Given the description of an element on the screen output the (x, y) to click on. 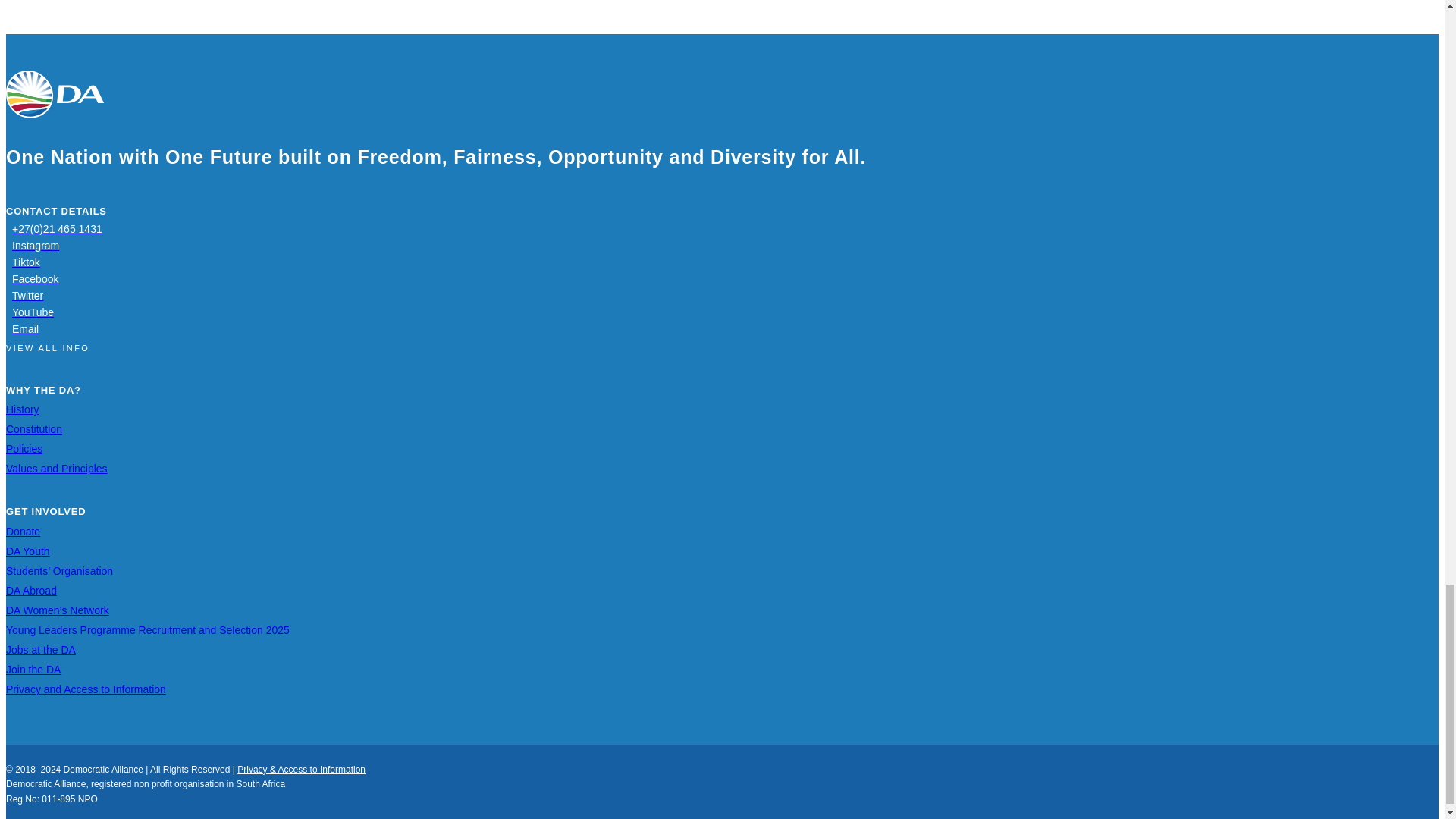
Democratic Alliance Logo (54, 93)
